Given the description of an element on the screen output the (x, y) to click on. 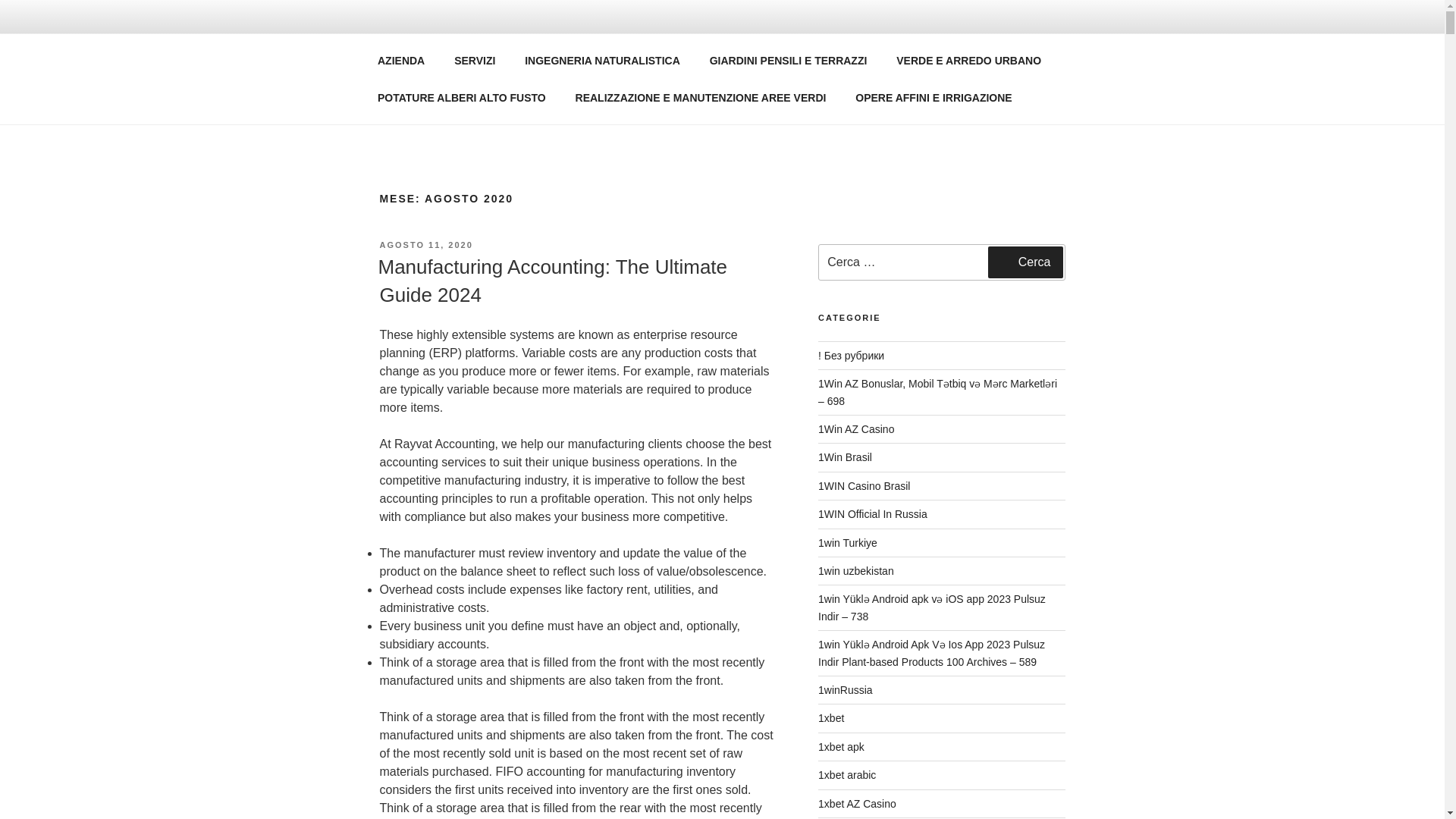
1winRussia (845, 689)
1WIN Official In Russia (872, 513)
1xbet AZ Casino (857, 803)
GIARDINI PENSILI E TERRAZZI (787, 60)
REALIZZAZIONE E MANUTENZIONE AREE VERDI (701, 97)
INGEGNERIA NATURALISTICA (603, 60)
Cerca (1025, 262)
1win Turkiye (847, 542)
AZIENDA (401, 60)
OPERE AFFINI E IRRIGAZIONE (934, 97)
AGOSTO 11, 2020 (424, 244)
1Win AZ Casino (855, 428)
1xbet arabic (847, 775)
1xbet apk (841, 746)
SERVIZI (474, 60)
